Given the description of an element on the screen output the (x, y) to click on. 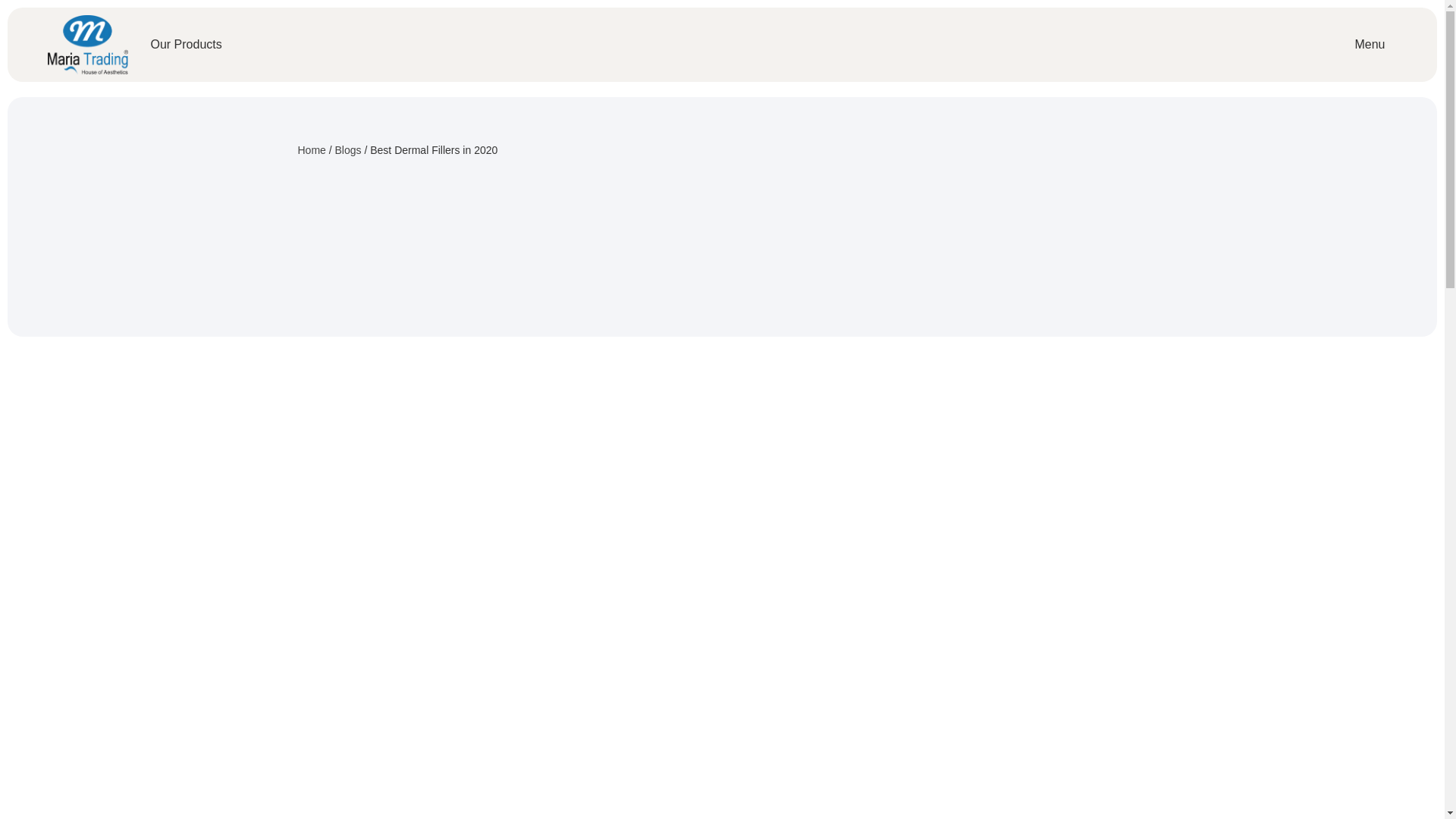
Our Products (186, 44)
Menu (1370, 44)
Our Products (186, 44)
